Given the description of an element on the screen output the (x, y) to click on. 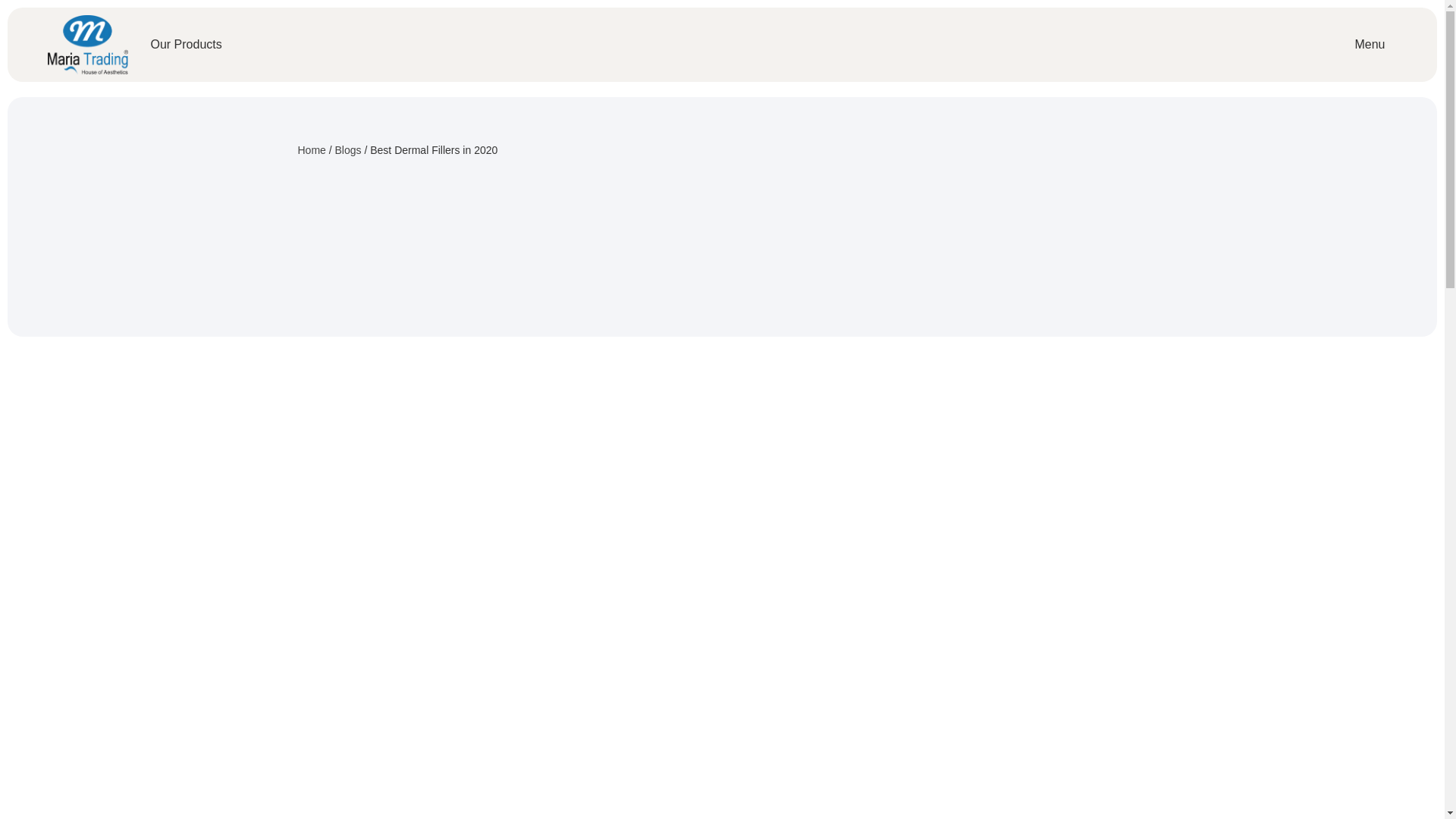
Our Products (186, 44)
Menu (1370, 44)
Our Products (186, 44)
